Given the description of an element on the screen output the (x, y) to click on. 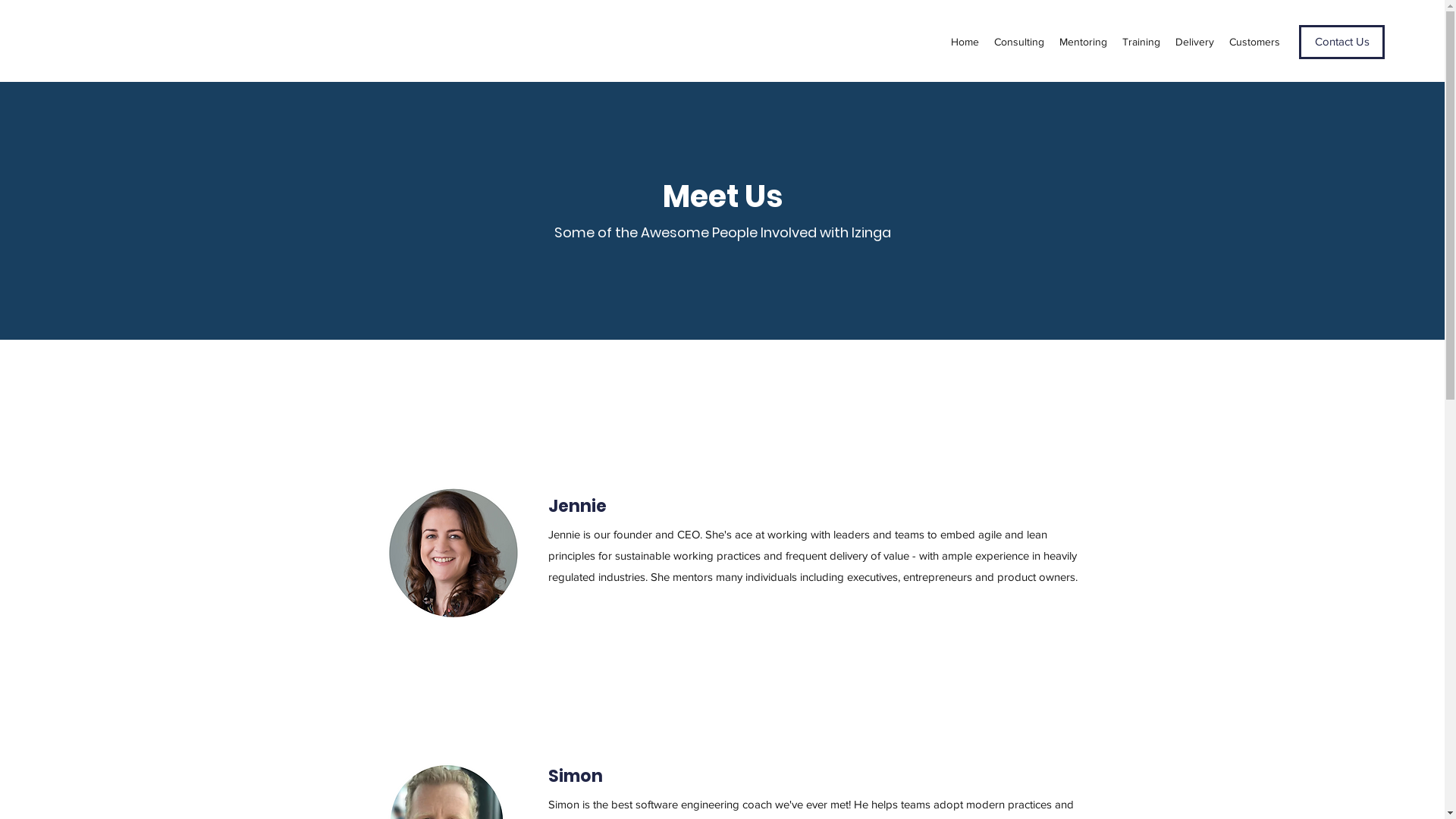
Contact Us Element type: text (1341, 42)
Training Element type: text (1140, 41)
Mentoring Element type: text (1082, 41)
Home Element type: text (964, 41)
Delivery Element type: text (1194, 41)
Consulting Element type: text (1018, 41)
Customers Element type: text (1254, 41)
